Given the description of an element on the screen output the (x, y) to click on. 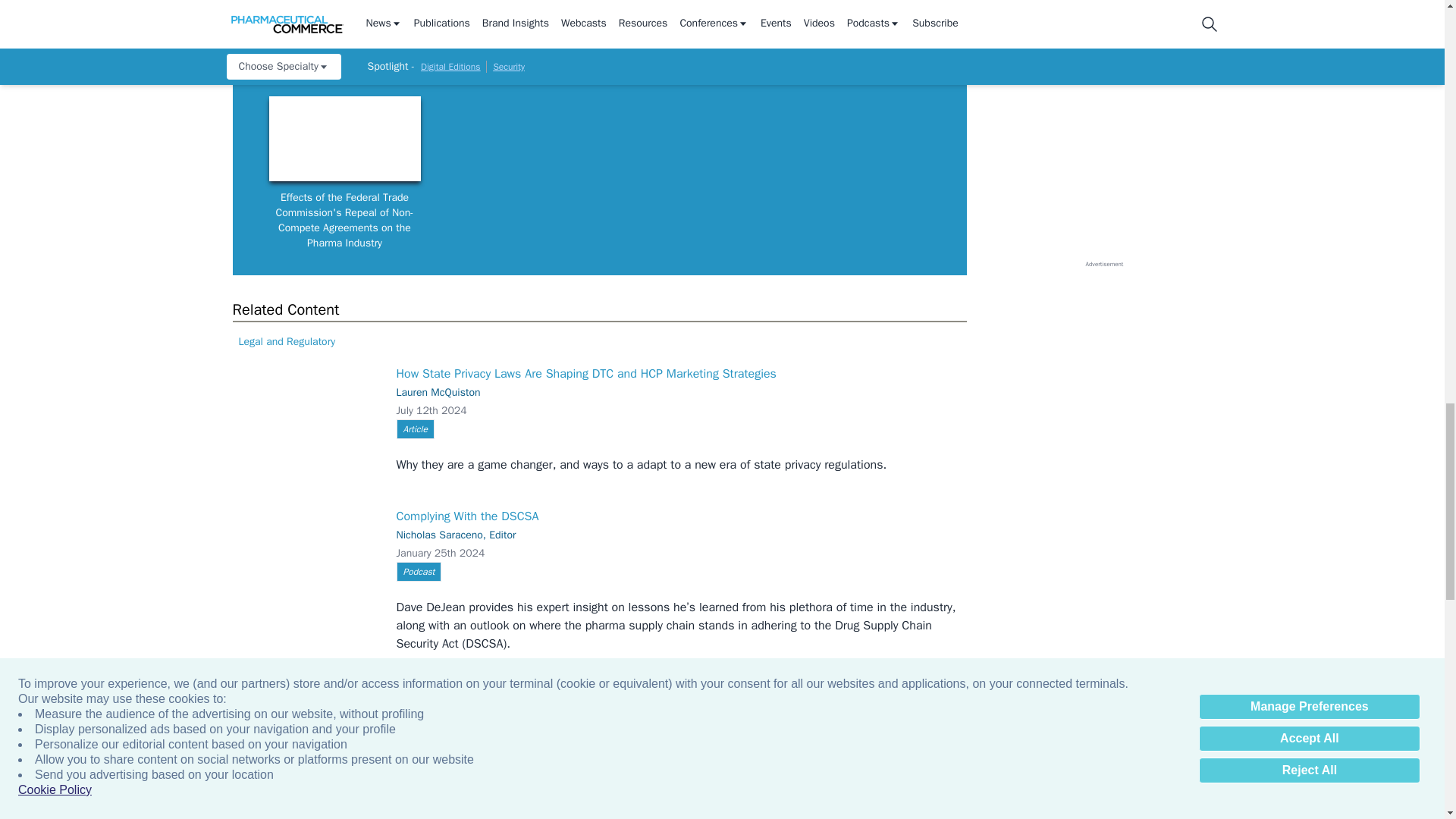
The Need to Make Telehealth Flexibilities Permanent (304, 732)
Complying With the DSCSA (304, 565)
